Given the description of an element on the screen output the (x, y) to click on. 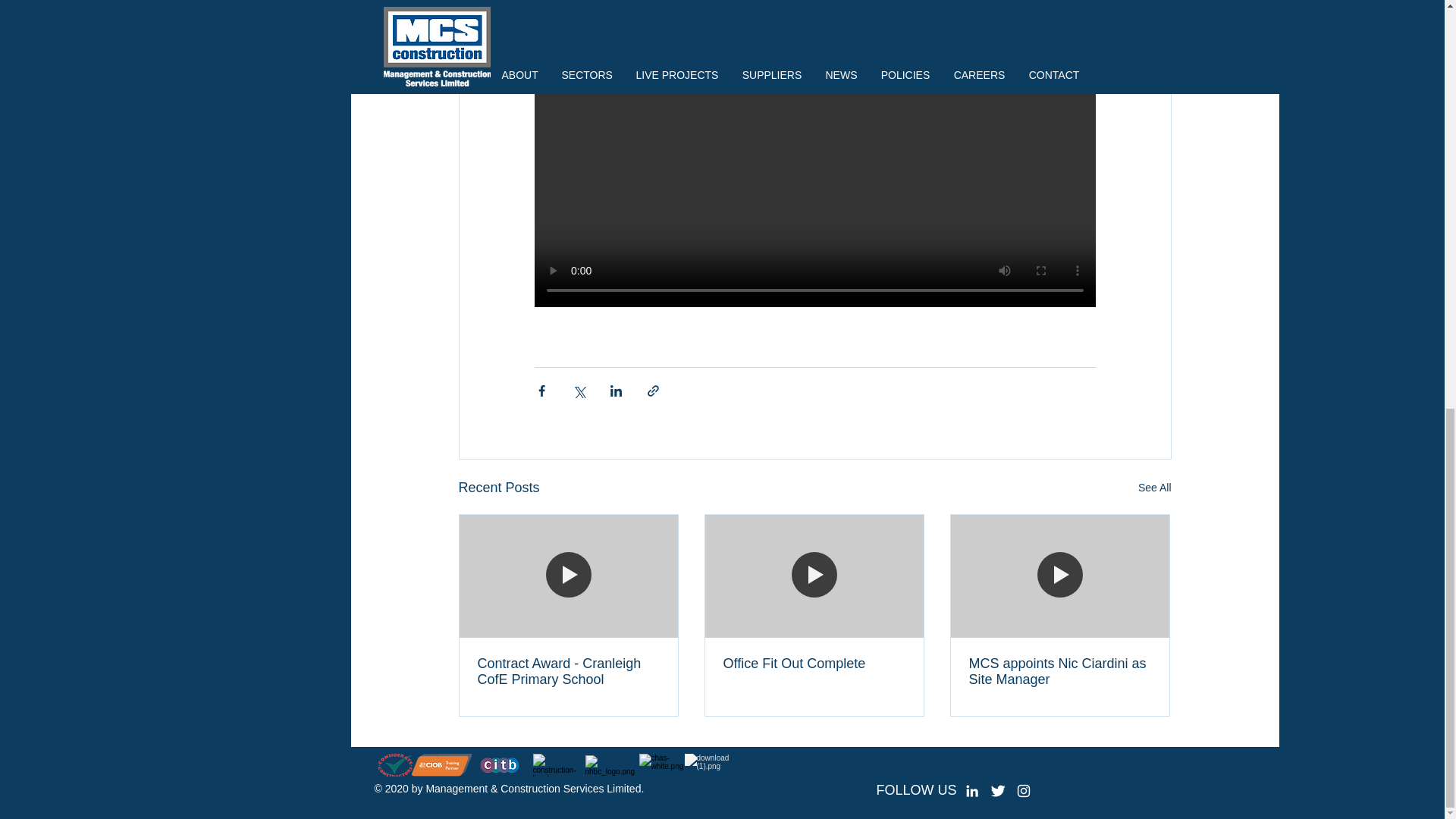
Contract Award - Cranleigh CofE Primary School (568, 671)
Office Fit Out Complete (814, 663)
MCS appoints Nic Ciardini as Site Manager (1060, 671)
See All (1155, 487)
